Given the description of an element on the screen output the (x, y) to click on. 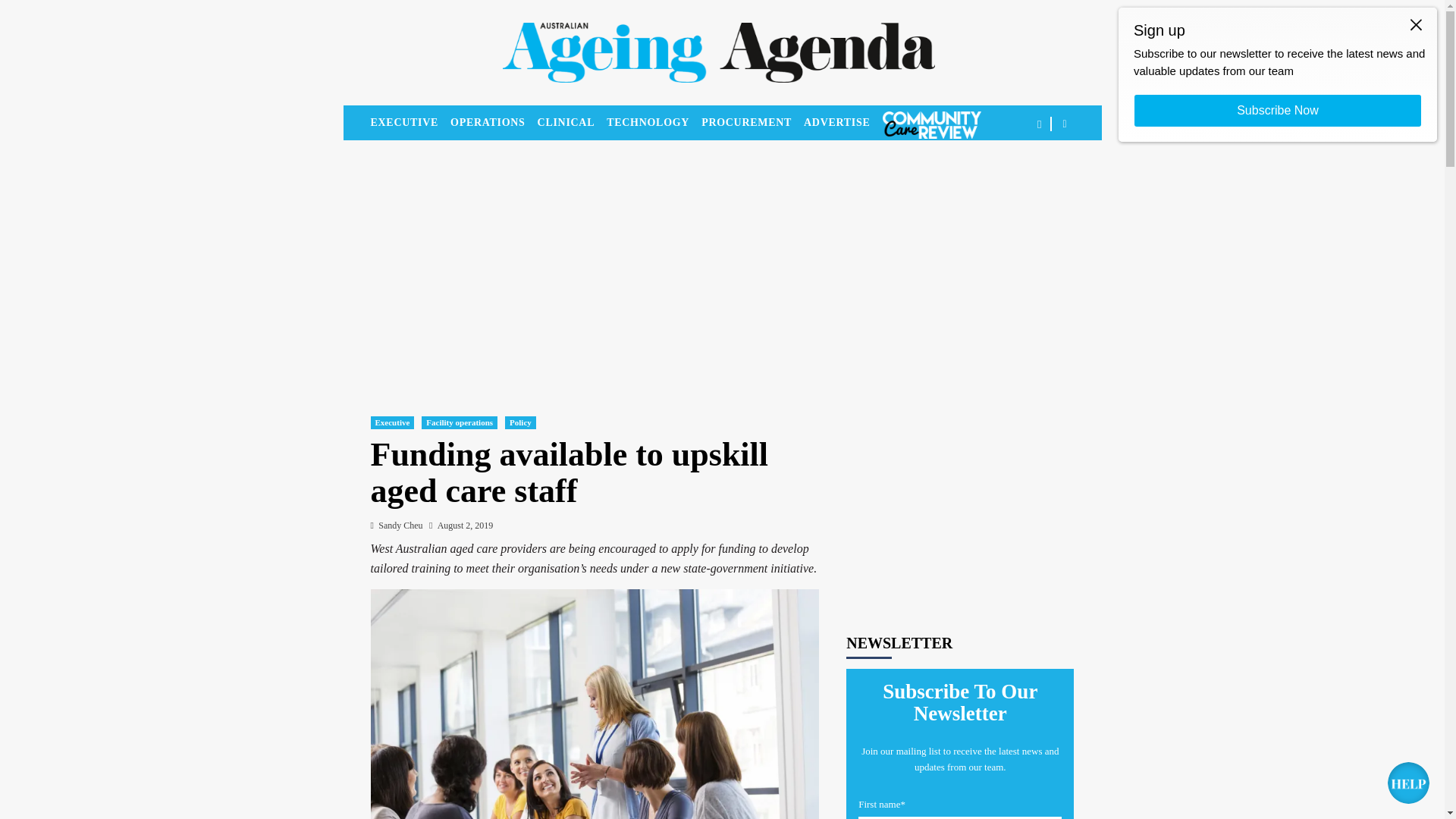
ADVERTISE (842, 122)
August 2, 2019 (465, 525)
Sandy Cheu (400, 525)
Executive (391, 422)
Search (1028, 170)
TECHNOLOGY (654, 122)
CLINICAL (572, 122)
Facility operations (459, 422)
OPERATIONS (493, 122)
EXECUTIVE (409, 122)
3rd party ad content (959, 495)
COMMUNITY CARE REVIEW (931, 124)
PROCUREMENT (752, 122)
Policy (520, 422)
